Given the description of an element on the screen output the (x, y) to click on. 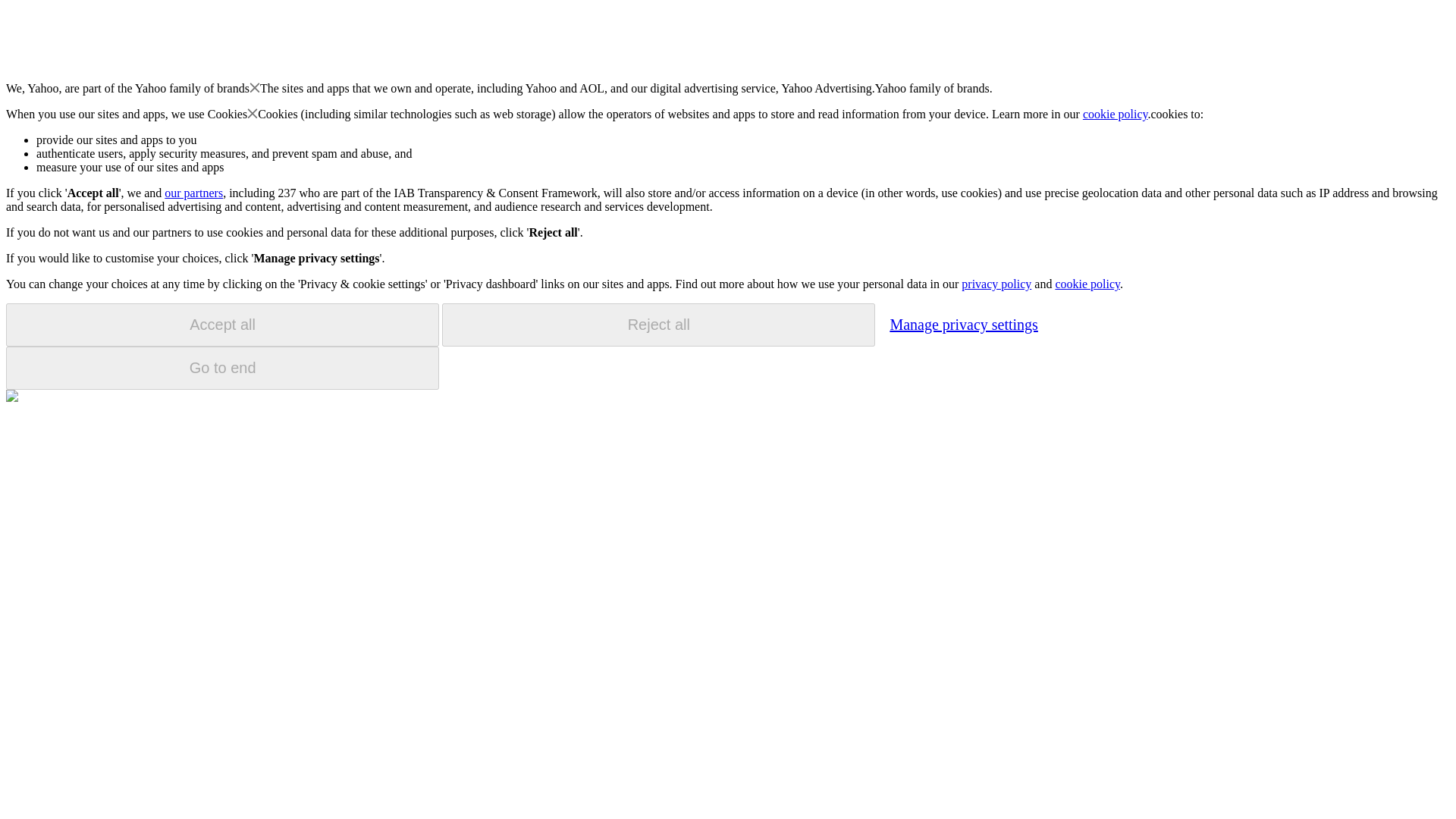
Go to end (222, 367)
our partners (193, 192)
cookie policy (1086, 283)
cookie policy (1115, 113)
Accept all (222, 324)
Manage privacy settings (963, 323)
Reject all (658, 324)
privacy policy (995, 283)
